Given the description of an element on the screen output the (x, y) to click on. 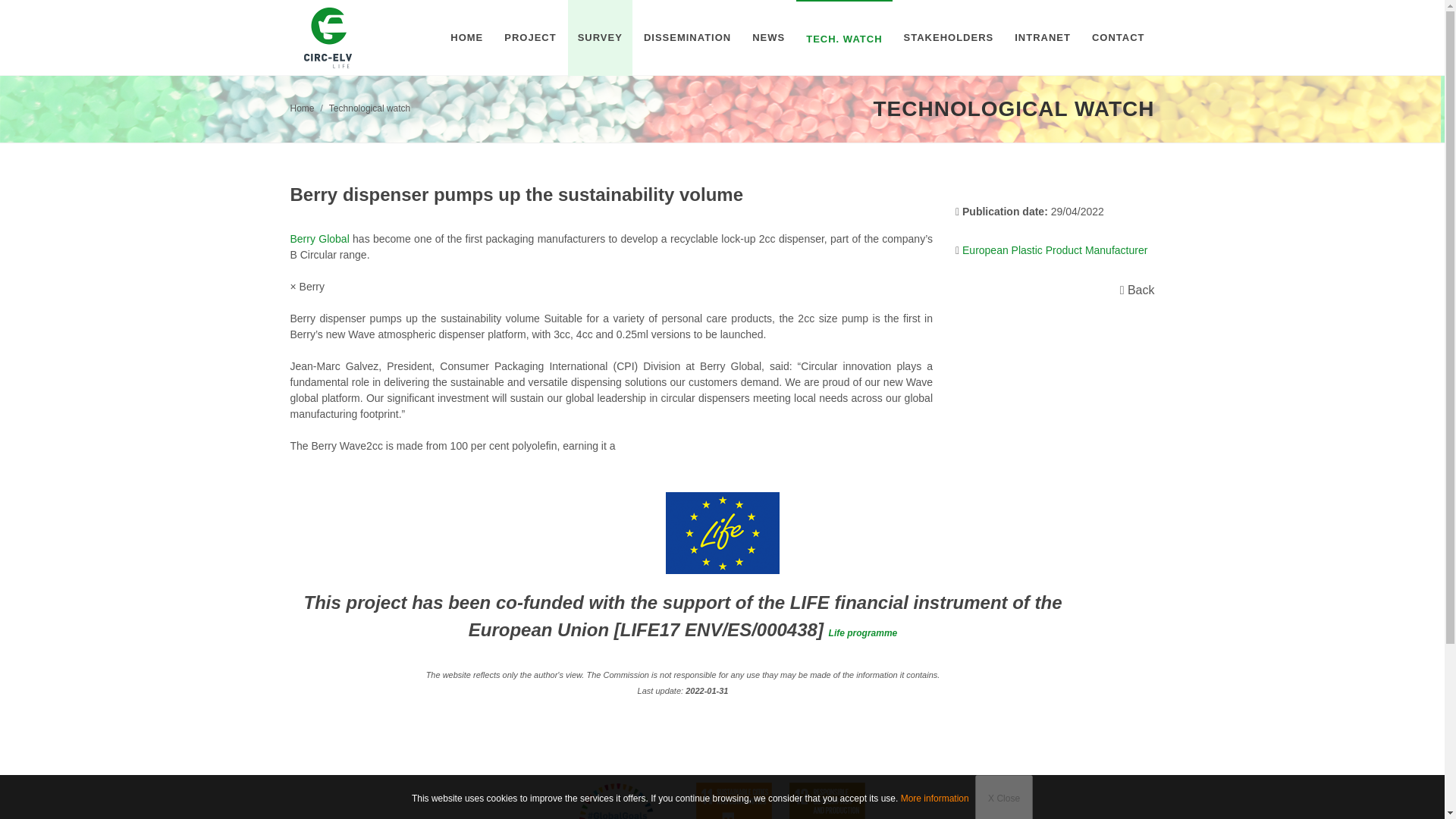
CONTACT (1117, 38)
X Close (1003, 796)
TECH. WATCH (843, 38)
Technological watch (369, 108)
Back (1139, 289)
Home (301, 108)
PROJECT (530, 38)
European Plastic Product Manufacturer (1058, 250)
DISSEMINATION (687, 38)
STAKEHOLDERS (948, 38)
INTRANET (1042, 38)
Life programme (863, 633)
Berry Global (288, 238)
